Given the description of an element on the screen output the (x, y) to click on. 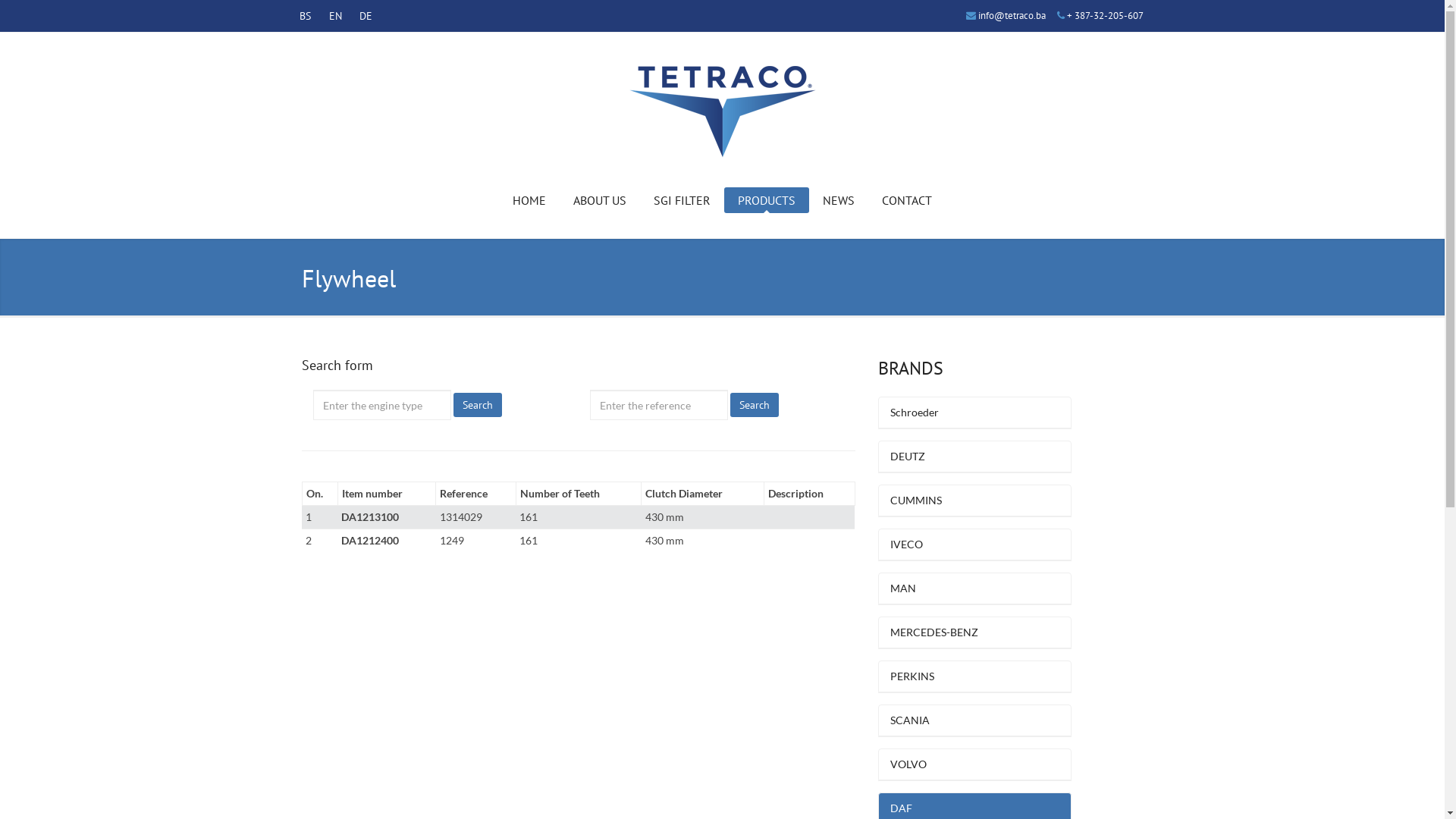
Search Element type: text (753, 404)
CONTACT Element type: text (906, 200)
MAN Element type: text (974, 588)
SCANIA Element type: text (974, 720)
PRODUCTS Element type: text (766, 200)
info@tetraco.ba Element type: text (1011, 15)
BS Element type: text (304, 15)
Schroeder Element type: text (974, 412)
VOLVO Element type: text (974, 764)
SGI FILTER Element type: text (682, 200)
Search Element type: text (477, 404)
ABOUT US Element type: text (599, 200)
EN Element type: text (335, 15)
HOME Element type: text (528, 200)
MERCEDES-BENZ Element type: text (974, 632)
CUMMINS Element type: text (974, 500)
NEWS Element type: text (838, 200)
PERKINS Element type: text (974, 676)
IVECO Element type: text (974, 544)
DEUTZ Element type: text (974, 456)
DE Element type: text (365, 15)
